Given the description of an element on the screen output the (x, y) to click on. 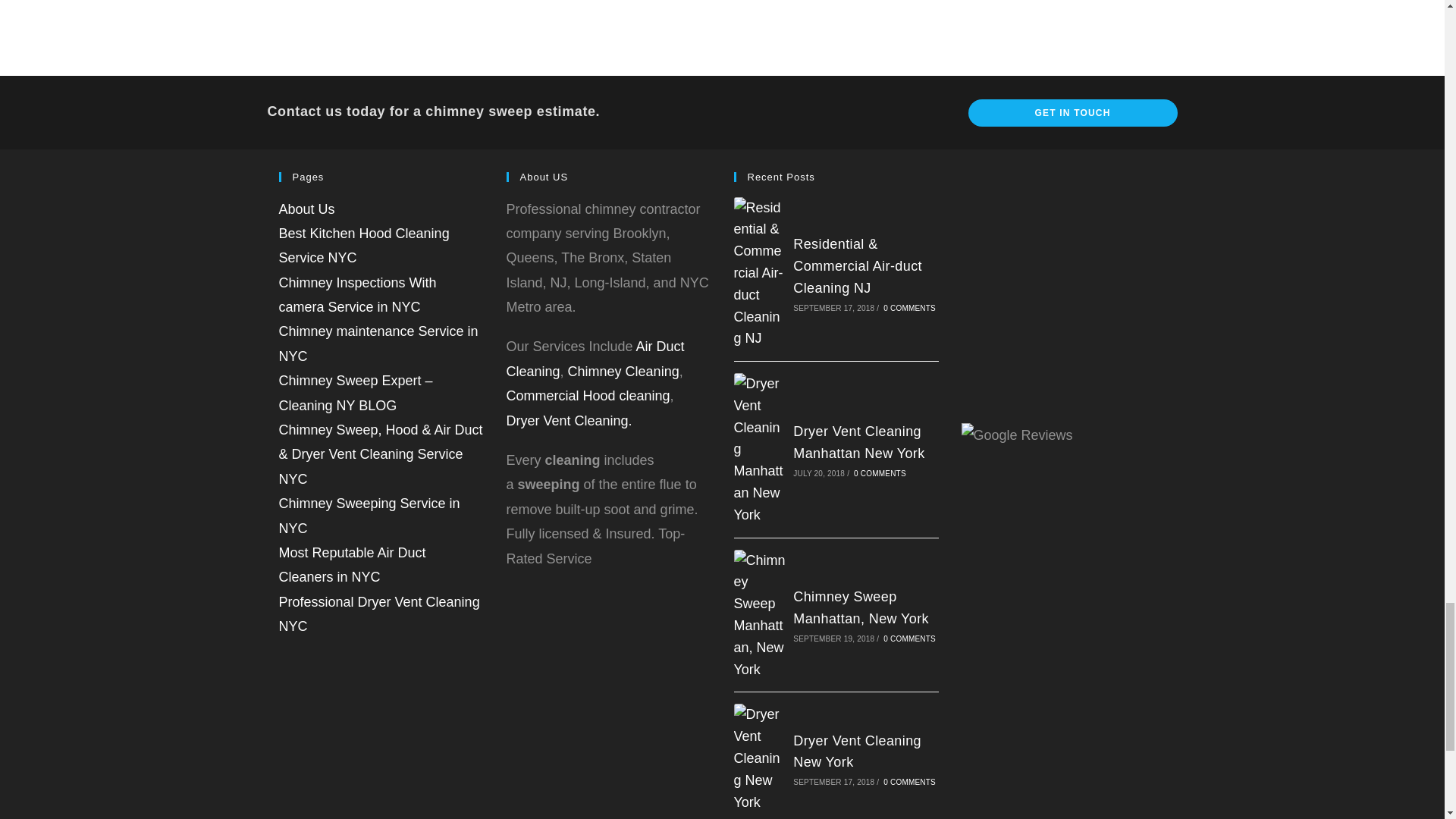
Chimney Inspections With camera Service in NYC (357, 294)
Dryer Vent Cleaning New York (857, 751)
GET IN TOUCH (1072, 112)
Chimney maintenance Service in NYC (379, 343)
About Us (306, 209)
Chimney Sweep Manhattan, New York (860, 607)
Chimney Sweeping Service in NYC (369, 515)
Best Kitchen Hood Cleaning Service NYC (364, 245)
Dryer Vent Cleaning New York (759, 758)
Flushing, New York, United States (722, 15)
Chimney Sweep Manhattan, New York (759, 614)
